Given the description of an element on the screen output the (x, y) to click on. 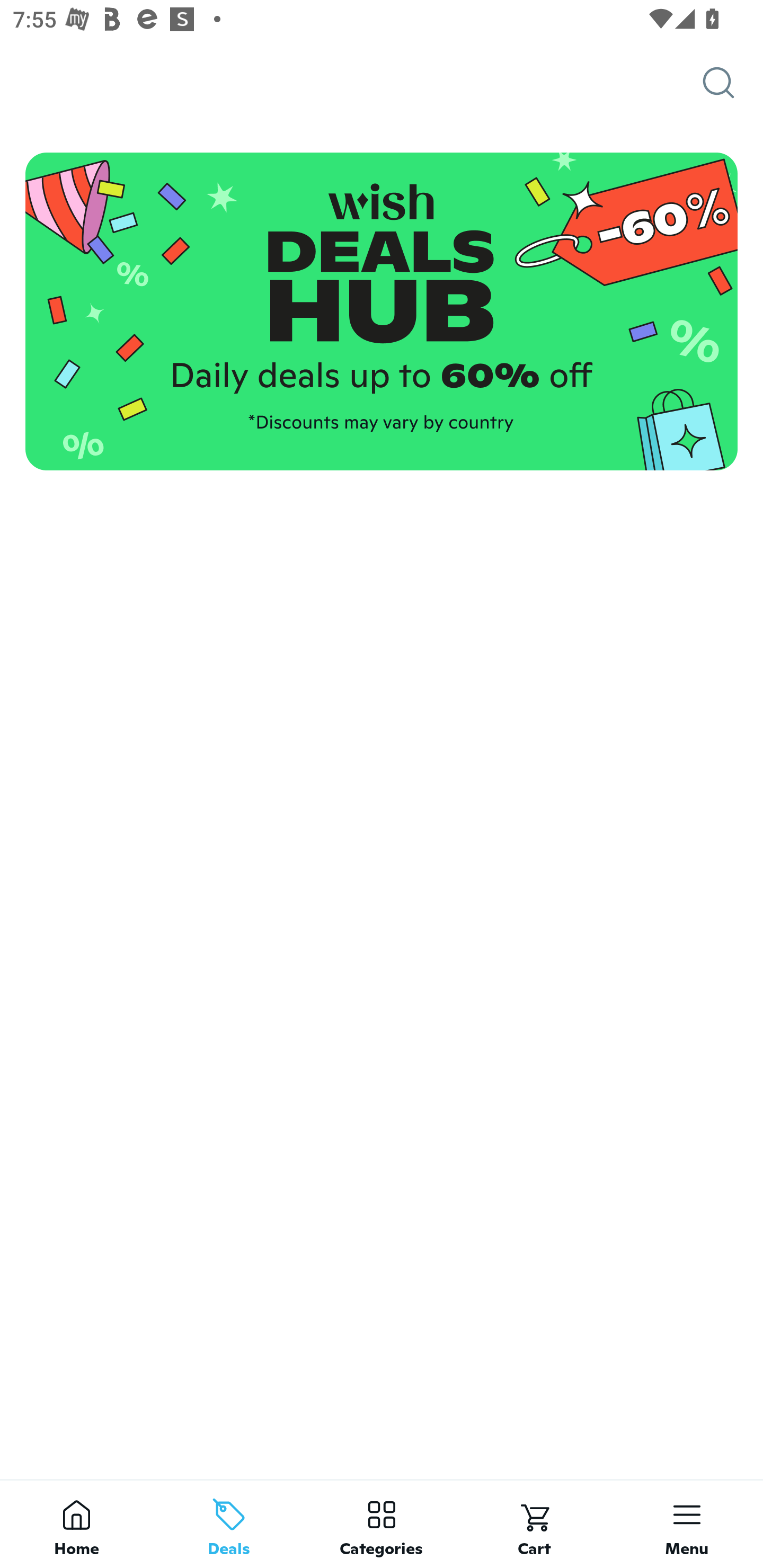
Search (732, 82)
Home (76, 1523)
Deals (228, 1523)
Categories (381, 1523)
Cart (533, 1523)
Menu (686, 1523)
